Given the description of an element on the screen output the (x, y) to click on. 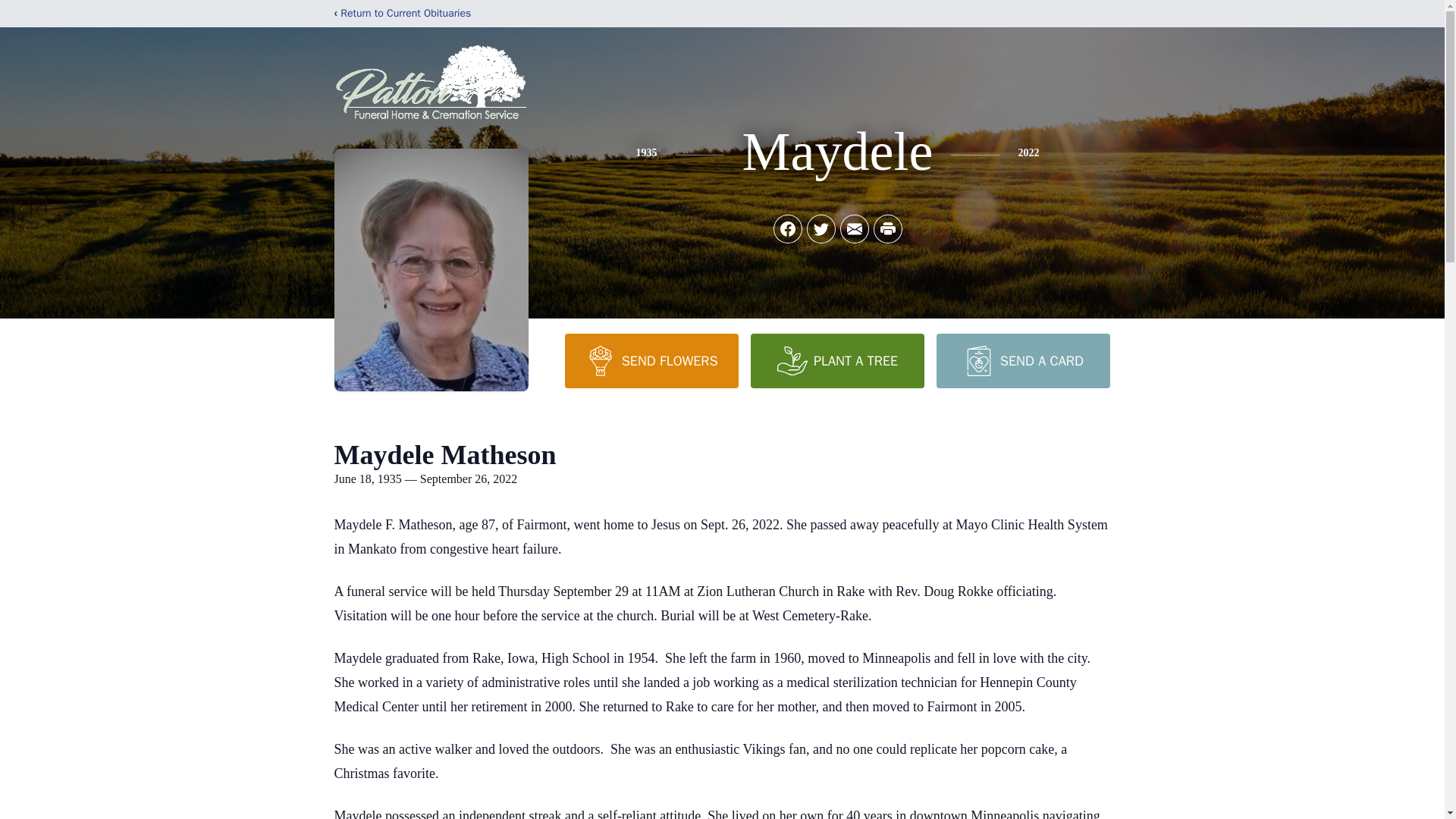
SEND A CARD (1022, 360)
PLANT A TREE (837, 360)
SEND FLOWERS (651, 360)
